Given the description of an element on the screen output the (x, y) to click on. 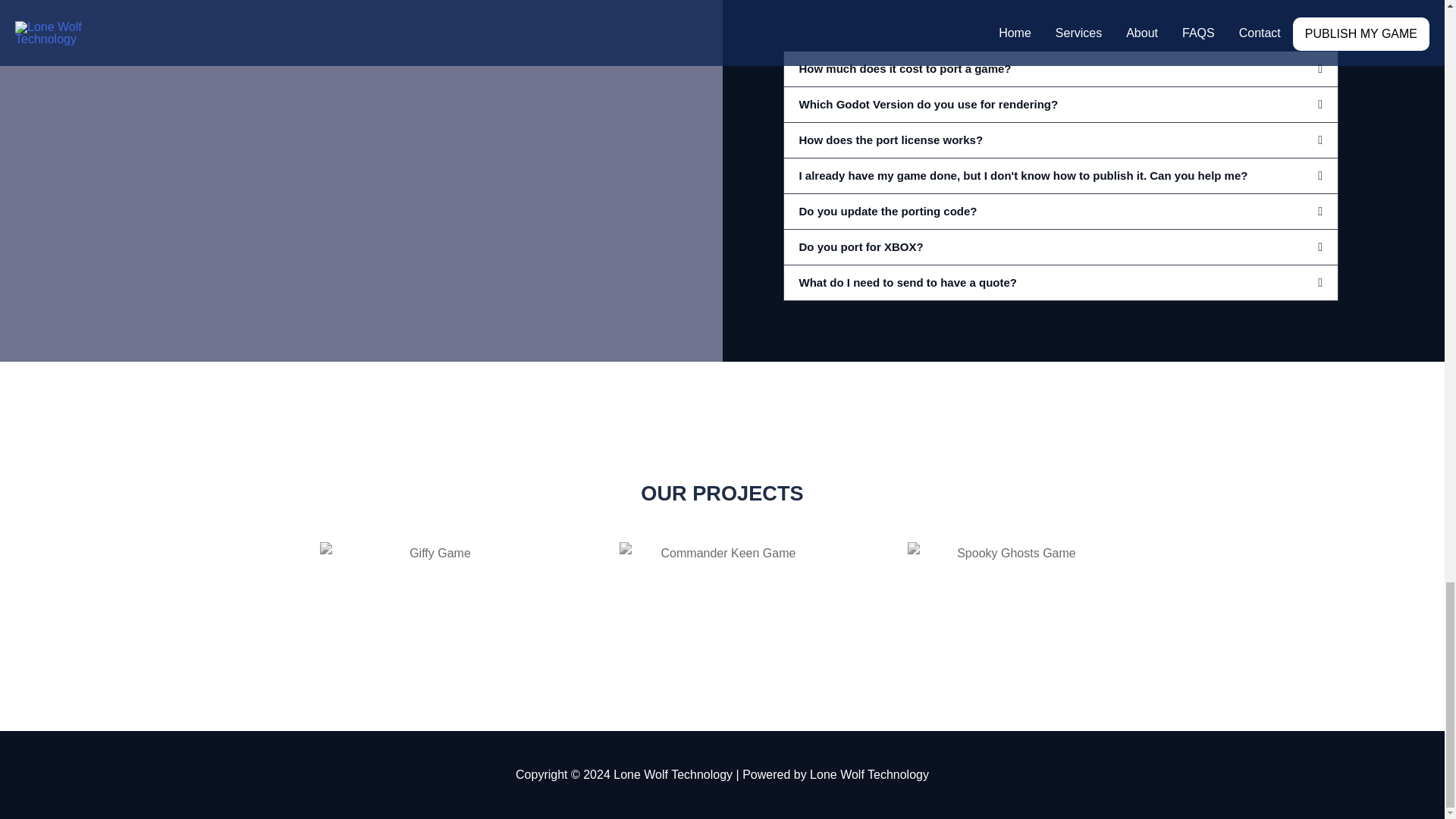
How does the port license works? (891, 139)
Do you update the porting code? (887, 210)
Which Godot Version do you use for rendering? (928, 103)
How much does it cost to port a game? (905, 68)
What do I need to send to have a quote? (908, 282)
Do you port for XBOX? (861, 246)
